Given the description of an element on the screen output the (x, y) to click on. 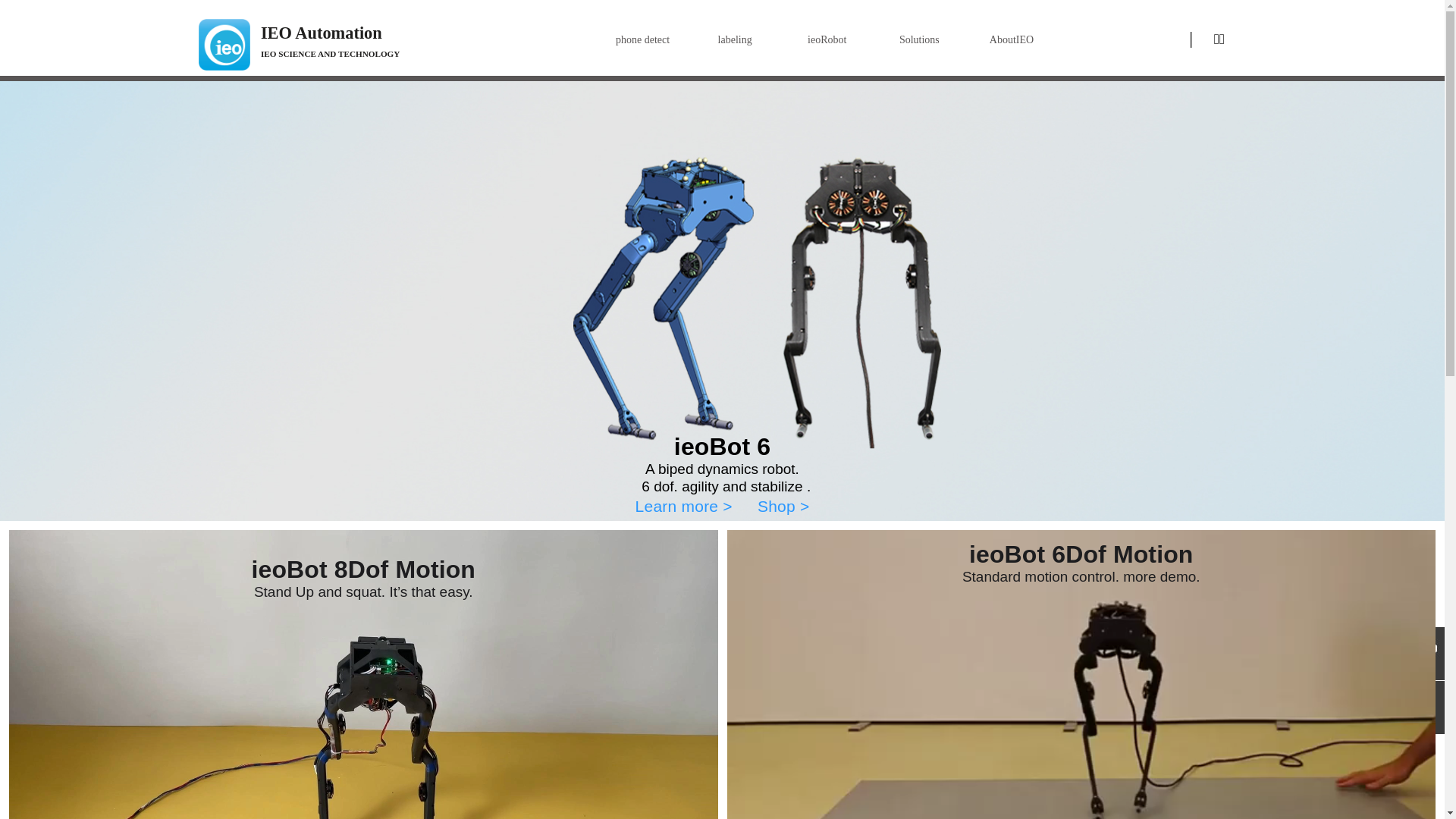
labeling Element type: text (734, 40)
Learn more > Element type: text (683, 505)
ieoRobot Element type: text (827, 40)
Shop > Element type: text (783, 505)
phone detect Element type: text (642, 40)
Solutions Element type: text (919, 40)
AboutIEO Element type: text (1011, 40)
